Given the description of an element on the screen output the (x, y) to click on. 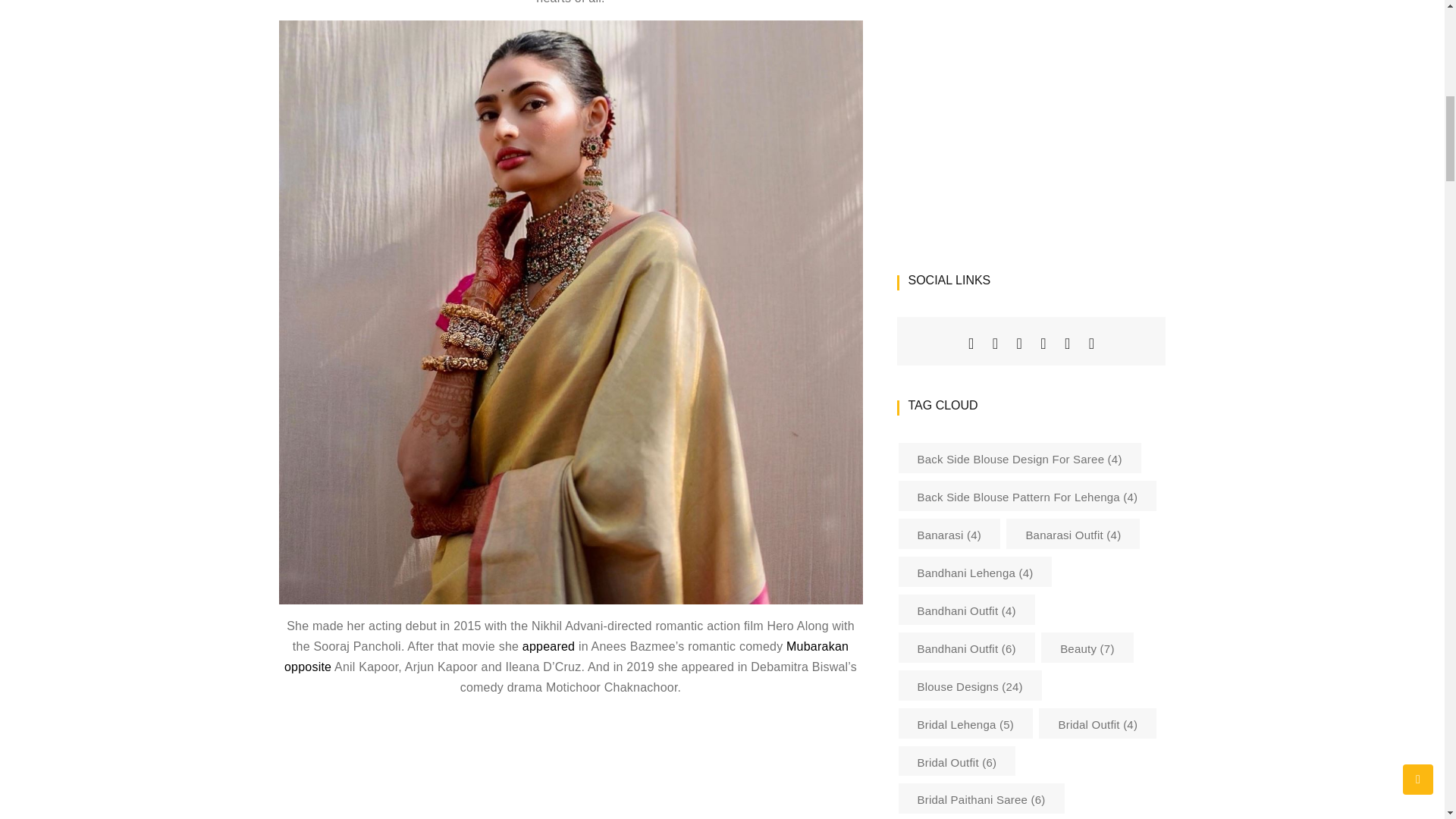
opposite (308, 666)
appeared (550, 645)
Mubarakan (817, 645)
